Given the description of an element on the screen output the (x, y) to click on. 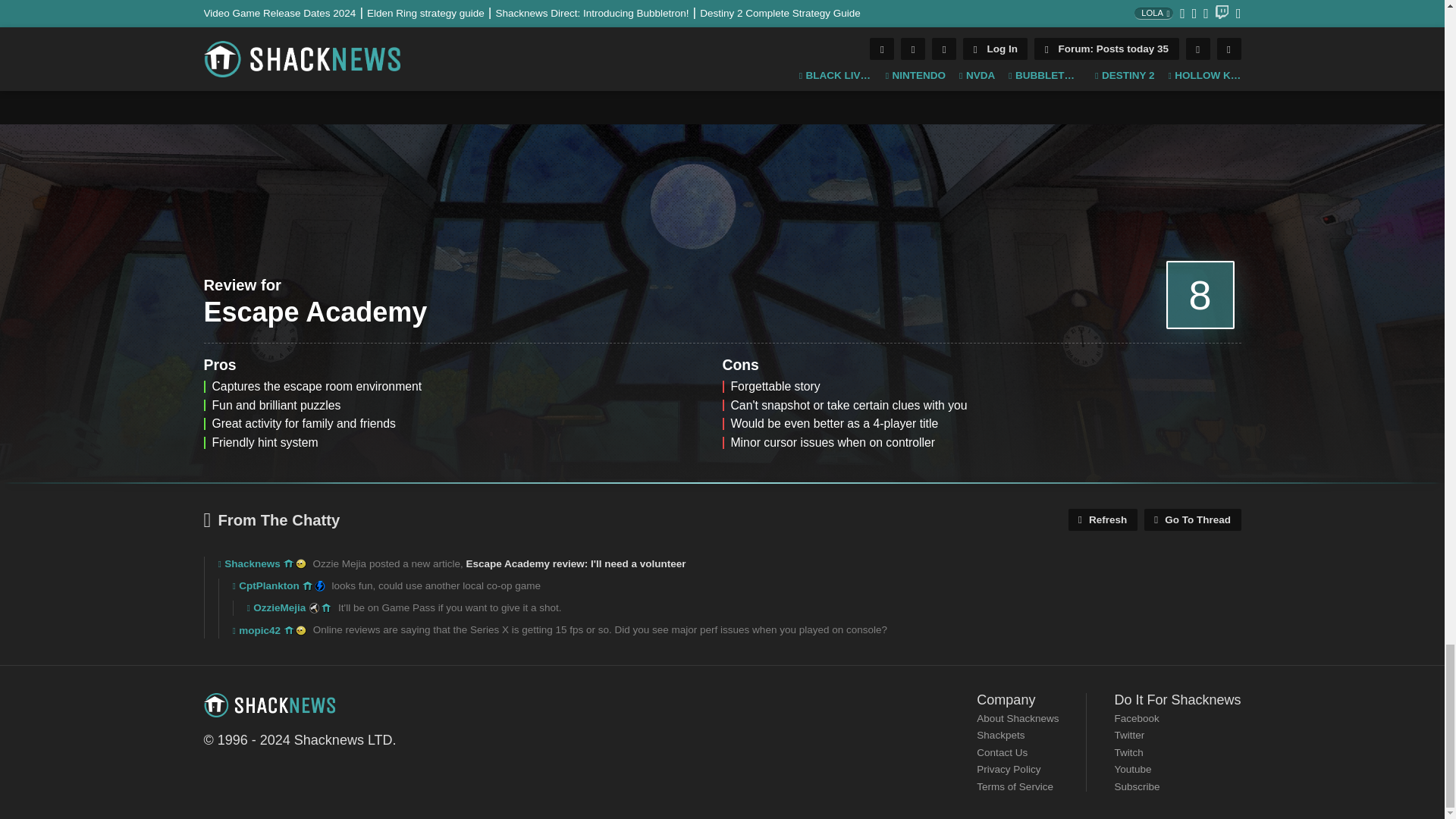
legacy 10 years (288, 563)
mercury super mega (319, 585)
legacy 20 years (300, 563)
legacy 10 years (307, 585)
moderator (314, 607)
legacy 20 years (300, 630)
legacy 10 years (289, 630)
legacy 10 years (326, 607)
